Given the description of an element on the screen output the (x, y) to click on. 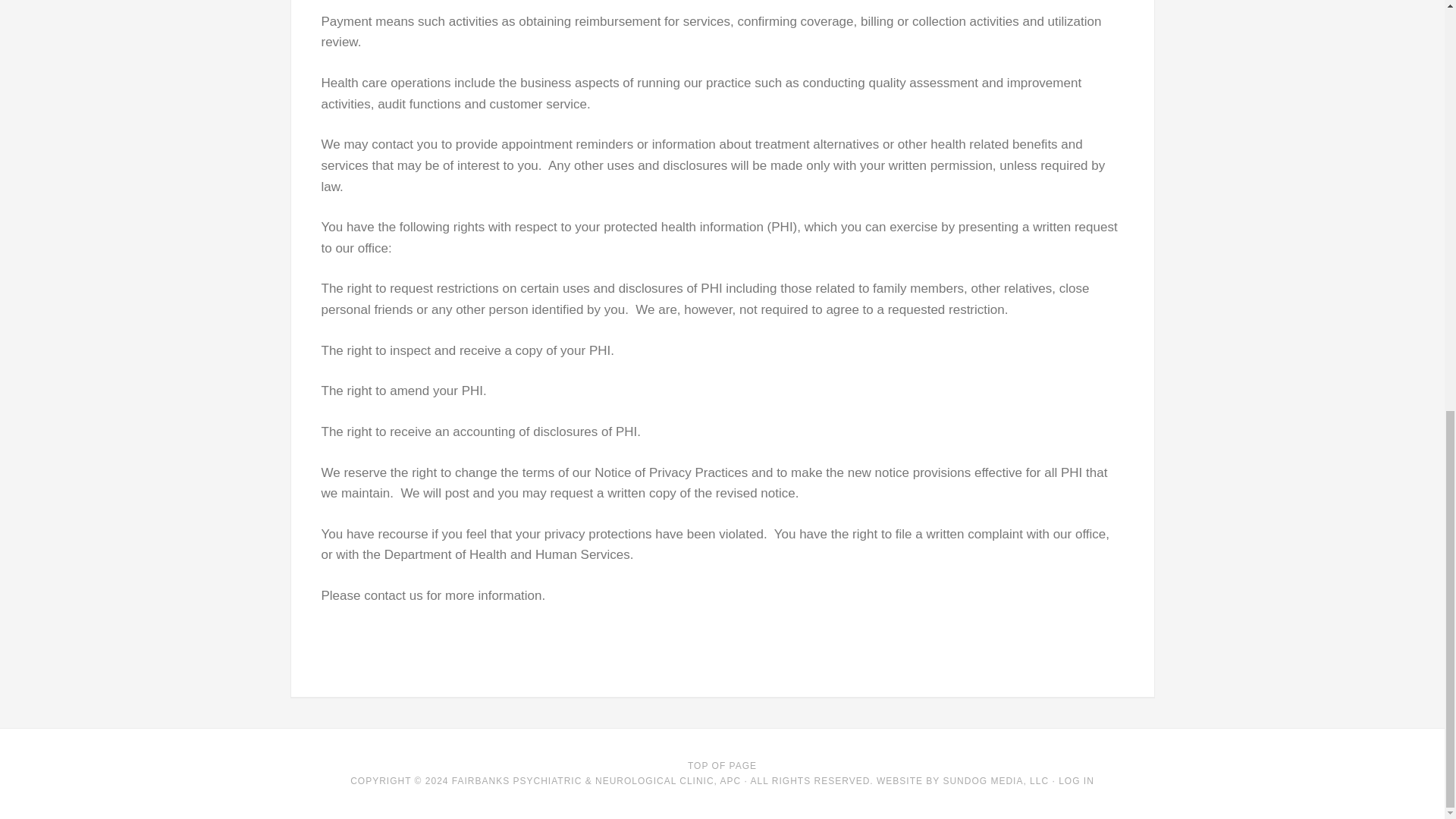
TOP OF PAGE (722, 765)
LOG IN (1076, 780)
TOP OF PAGE (722, 765)
SUNDOG MEDIA, LLC (995, 780)
